Given the description of an element on the screen output the (x, y) to click on. 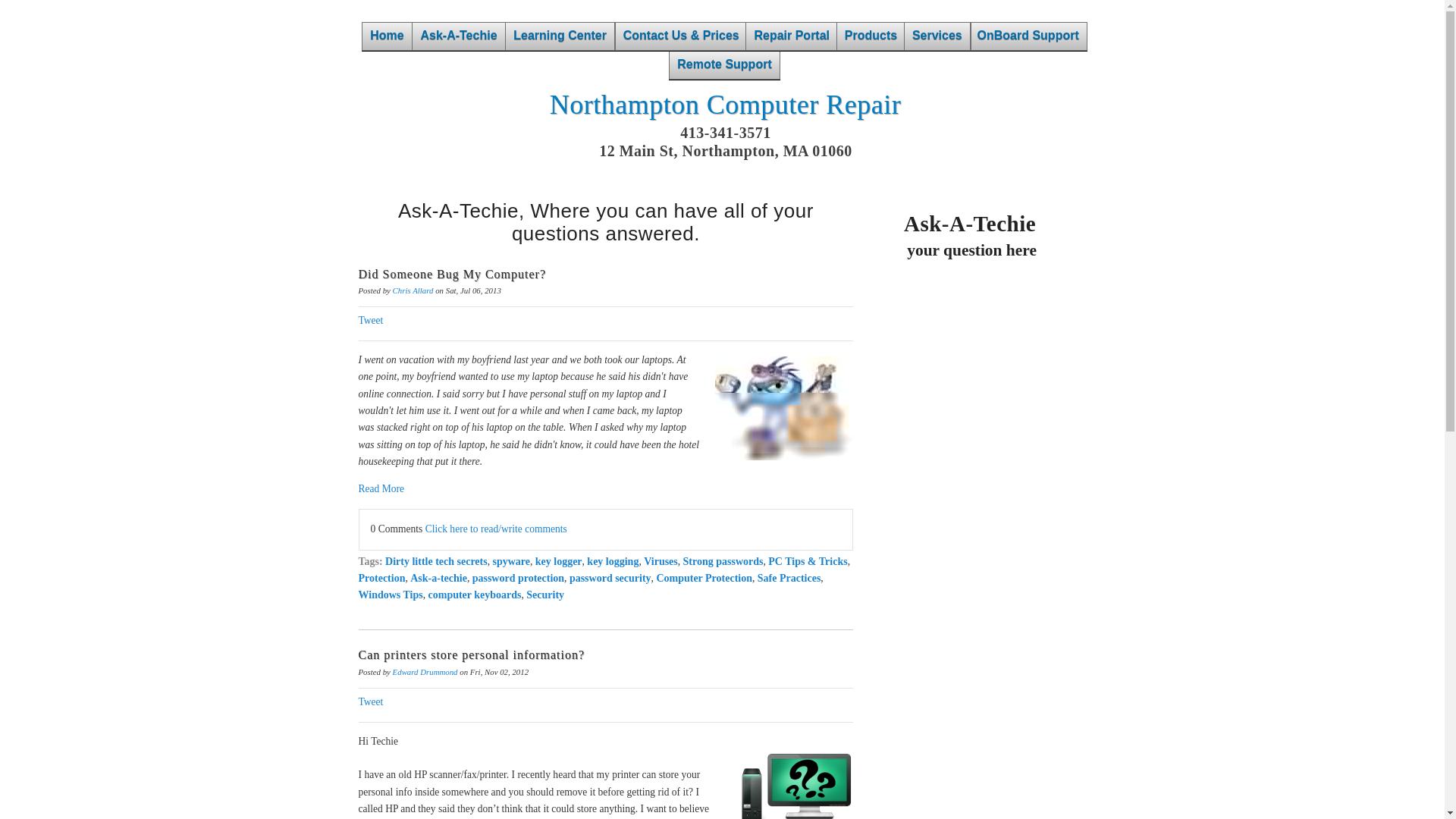
spyware (510, 561)
Viruses (660, 561)
Chris Allard (413, 289)
Read More (605, 488)
Northampton Computer Repair (725, 104)
key logging (612, 561)
Dirty little tech secrets (436, 561)
Products (870, 36)
Did Someone Bug My Computer? (452, 273)
Ask-A-Techie (458, 36)
Tweet (370, 319)
Learning Center (559, 36)
Home (386, 36)
Northampton Computer Repair (725, 104)
Services (937, 36)
